Given the description of an element on the screen output the (x, y) to click on. 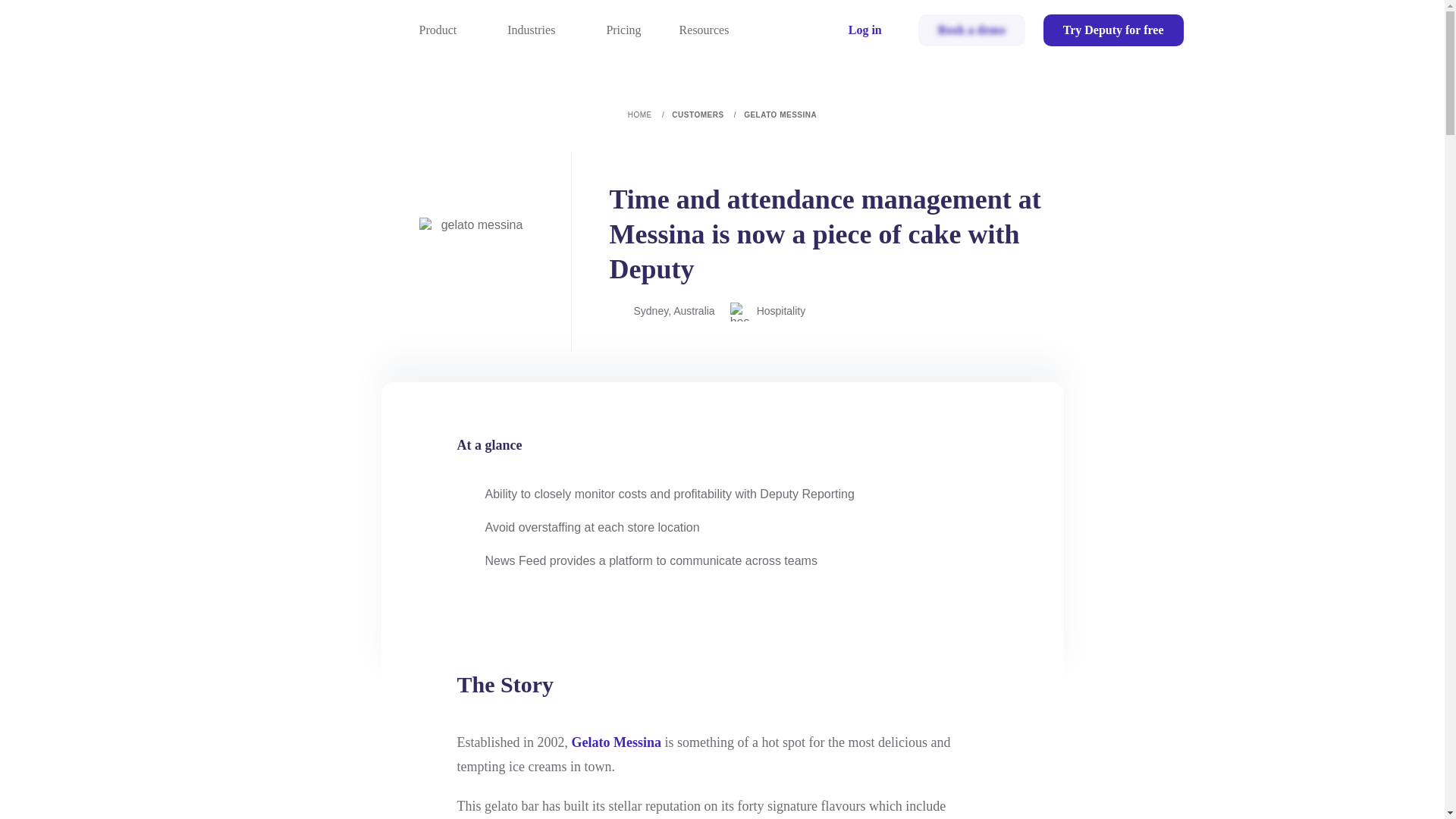
CUSTOMERS (707, 114)
Log in (864, 30)
Pricing (622, 29)
Try Deputy for free (1113, 29)
Gelato Messina (617, 742)
Book a demo (971, 29)
HOME (649, 114)
